Given the description of an element on the screen output the (x, y) to click on. 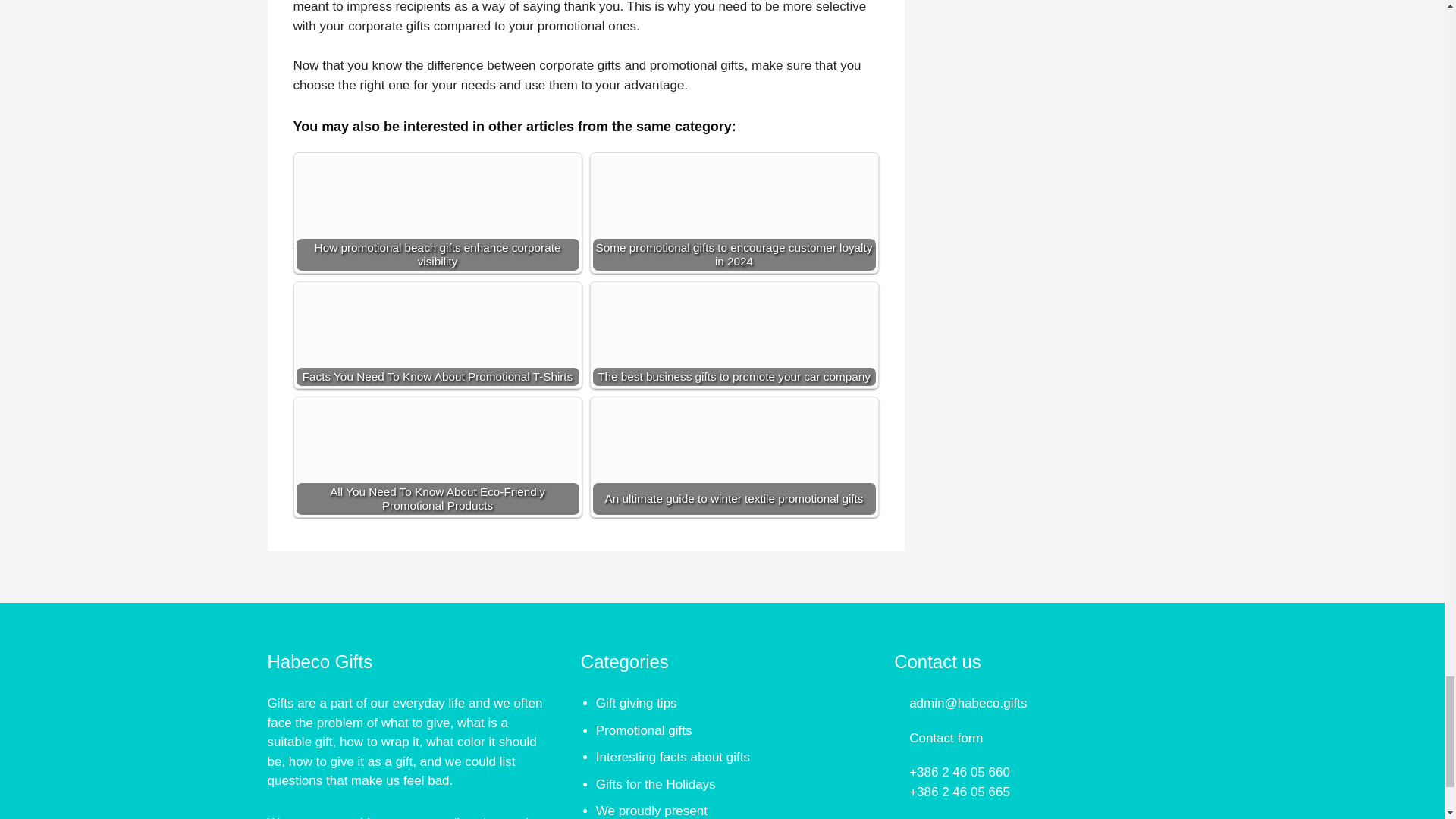
How promotional beach gifts enhance corporate visibility (436, 235)
Facts You Need To Know About Promotional T-Shirts (436, 364)
Some promotional gifts to encourage customer loyalty in 2024 (734, 235)
An ultimate guide to winter textile promotional gifts (734, 480)
All You Need To Know About Eco-Friendly Promotional Products (436, 480)
The best business gifts to promote your car company (734, 364)
